Given the description of an element on the screen output the (x, y) to click on. 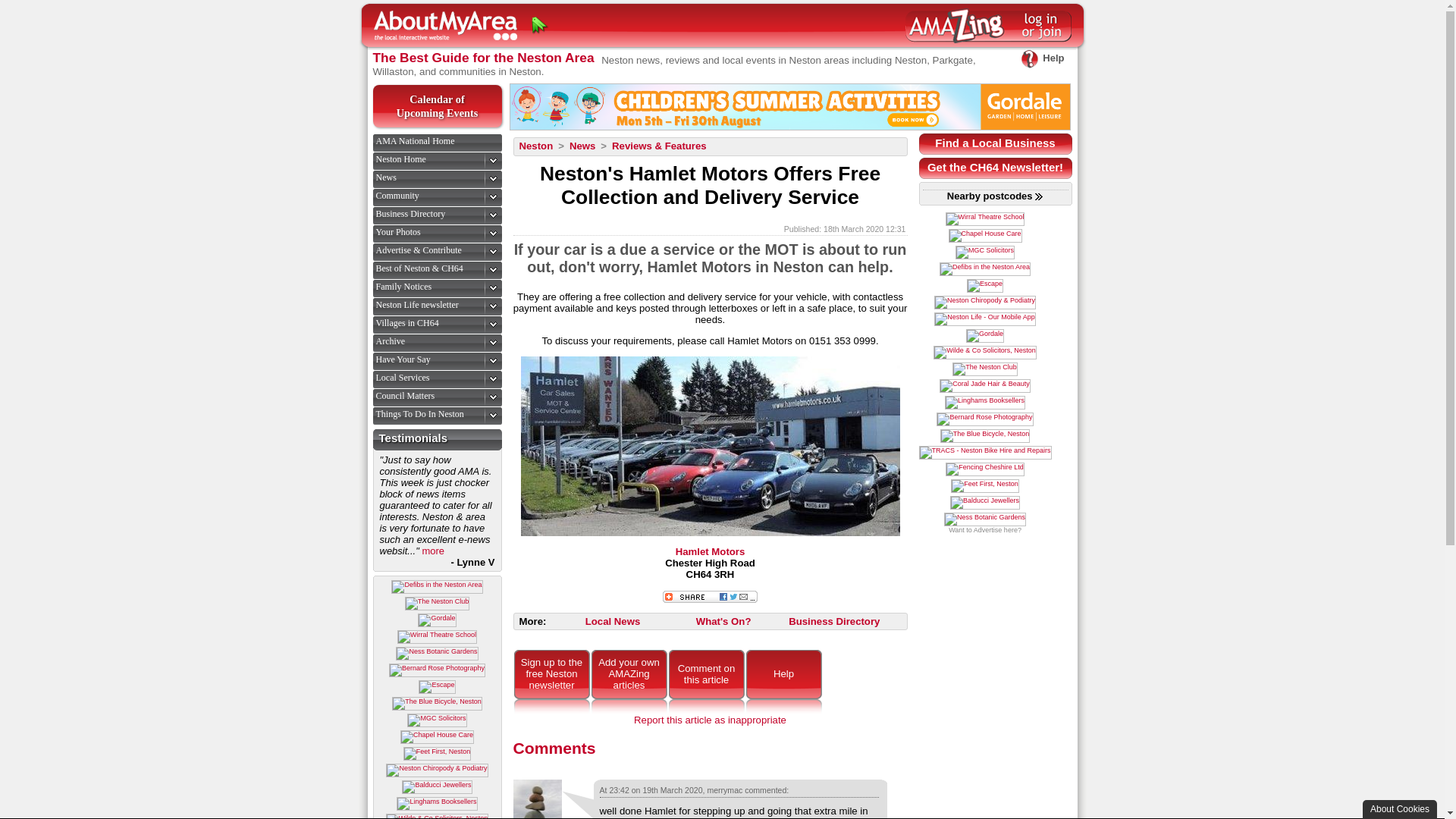
The Neston Club (437, 603)
Wirral Theatre School (437, 636)
Gordale  (436, 620)
Bookmark this page (539, 25)
Bernard Rose Photography (436, 670)
Balducci Jewellers (437, 106)
MGC Solicitors (436, 786)
AMA National Home (436, 720)
Neston Home (414, 140)
The Blue Bicycle, Neston (400, 158)
Family Notices (436, 703)
Help (403, 286)
Gordale Garden and Home Centre (1042, 57)
Feet First, Neston (788, 106)
